Given the description of an element on the screen output the (x, y) to click on. 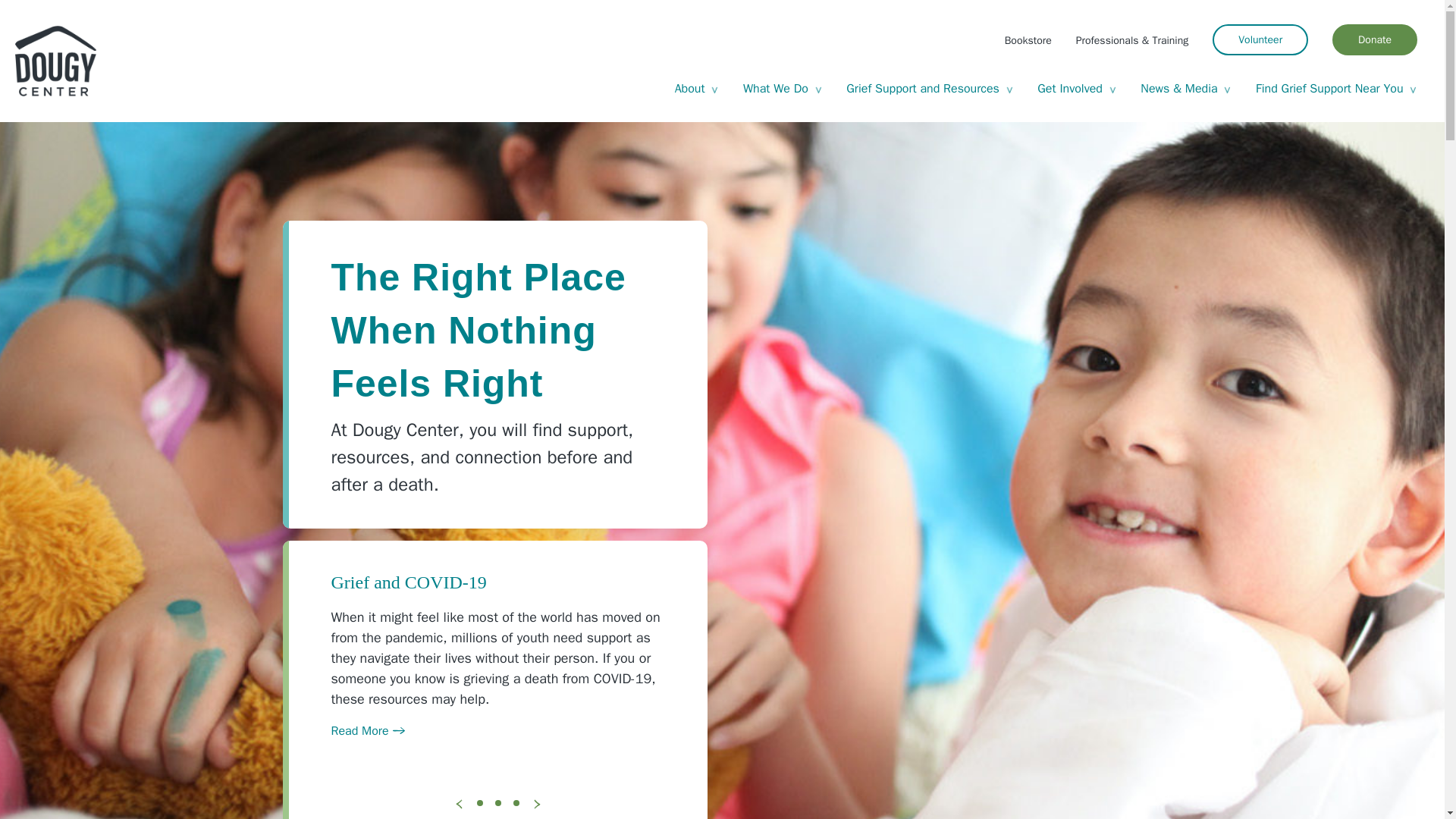
About (696, 88)
Donate (1374, 39)
What We Do (782, 88)
Bookstore (1027, 39)
Volunteer (1259, 39)
